Given the description of an element on the screen output the (x, y) to click on. 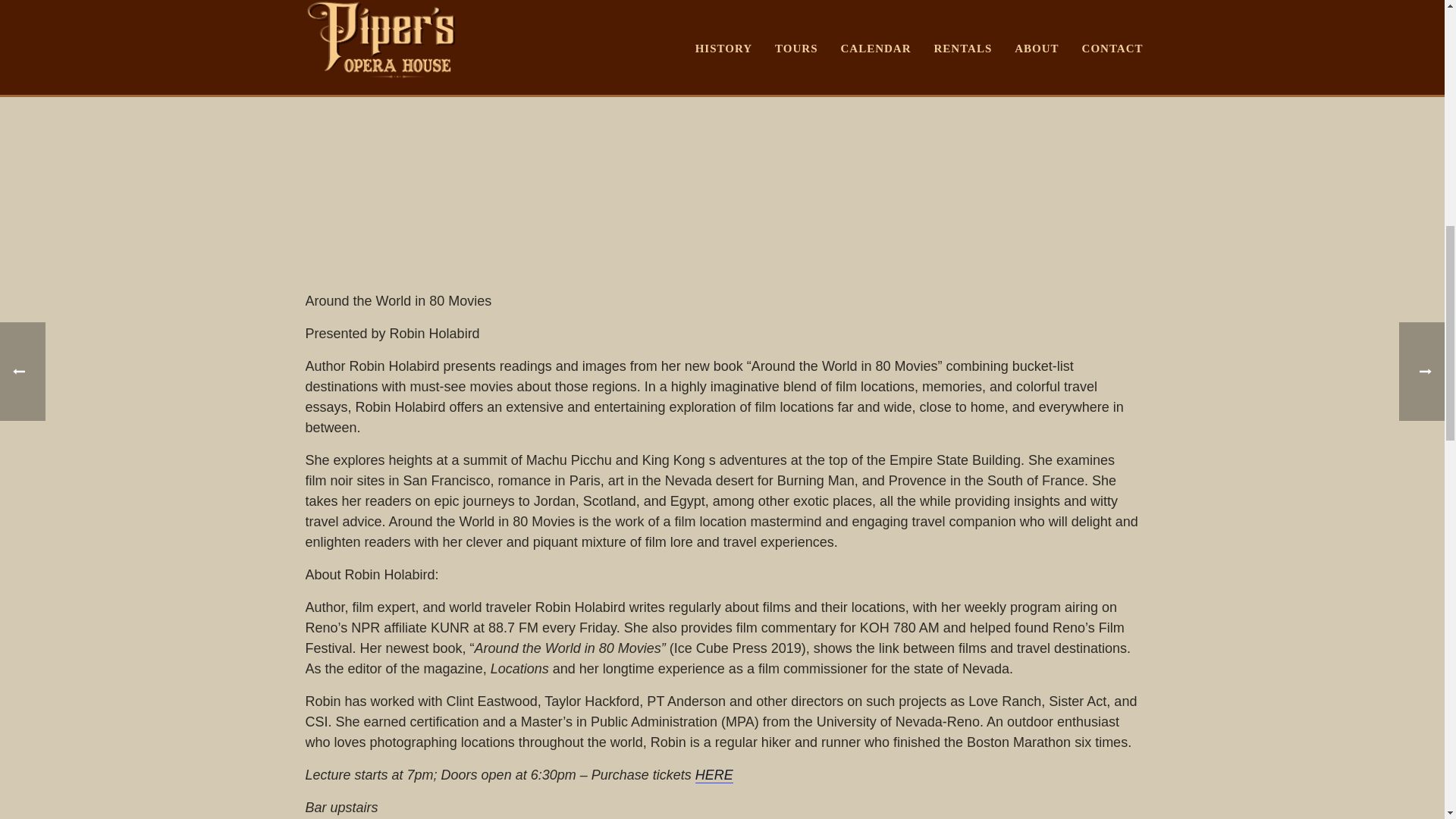
HERE (714, 774)
